Given the description of an element on the screen output the (x, y) to click on. 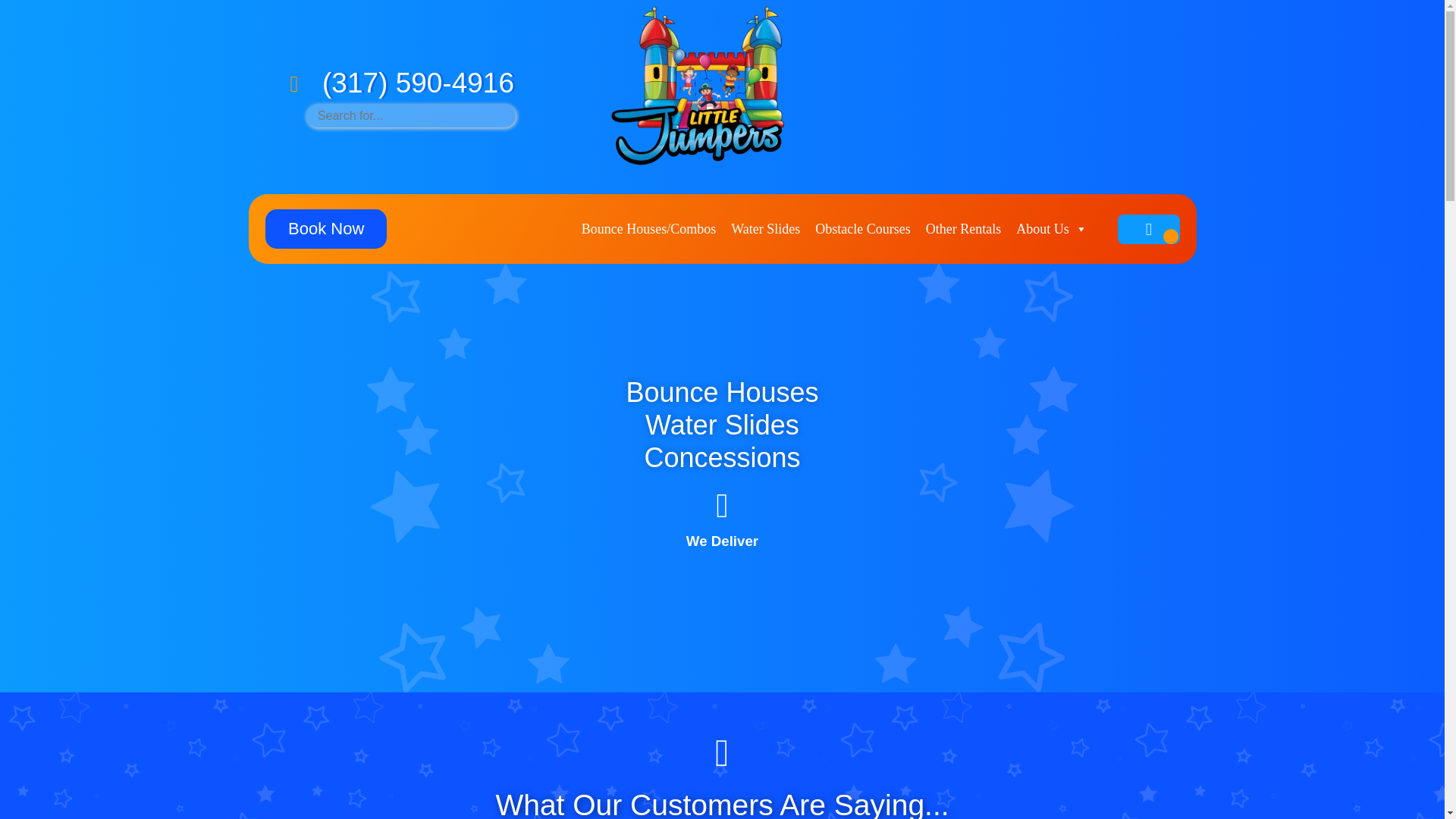
Water Slides (765, 228)
Search (22, 9)
About Us (1051, 228)
Book Now (325, 228)
Obstacle Courses (862, 228)
Other Rentals (963, 228)
